Given the description of an element on the screen output the (x, y) to click on. 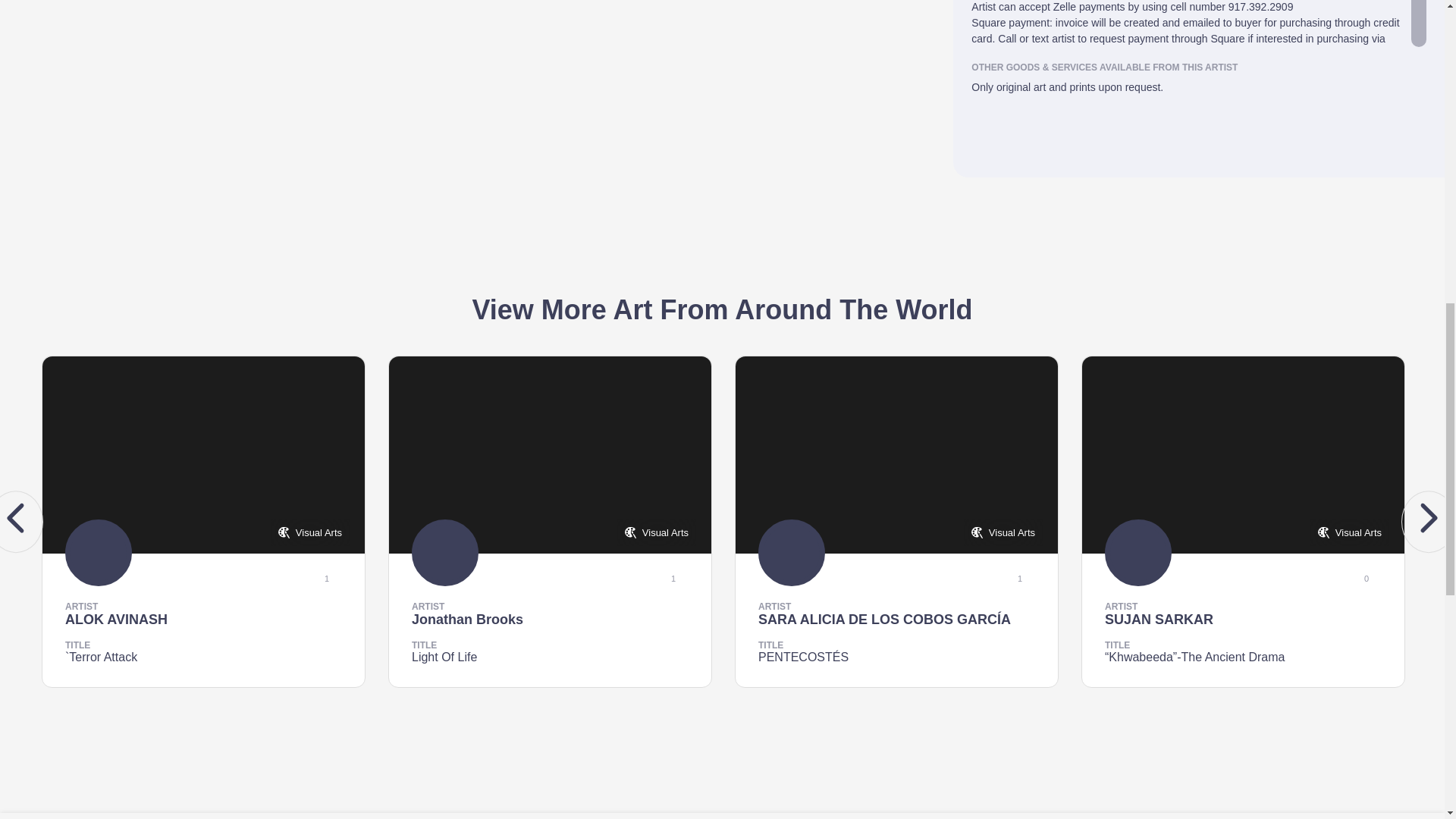
Only original art and prints upon request. (1198, 94)
Only original art and prints upon request. (1198, 94)
